Given the description of an element on the screen output the (x, y) to click on. 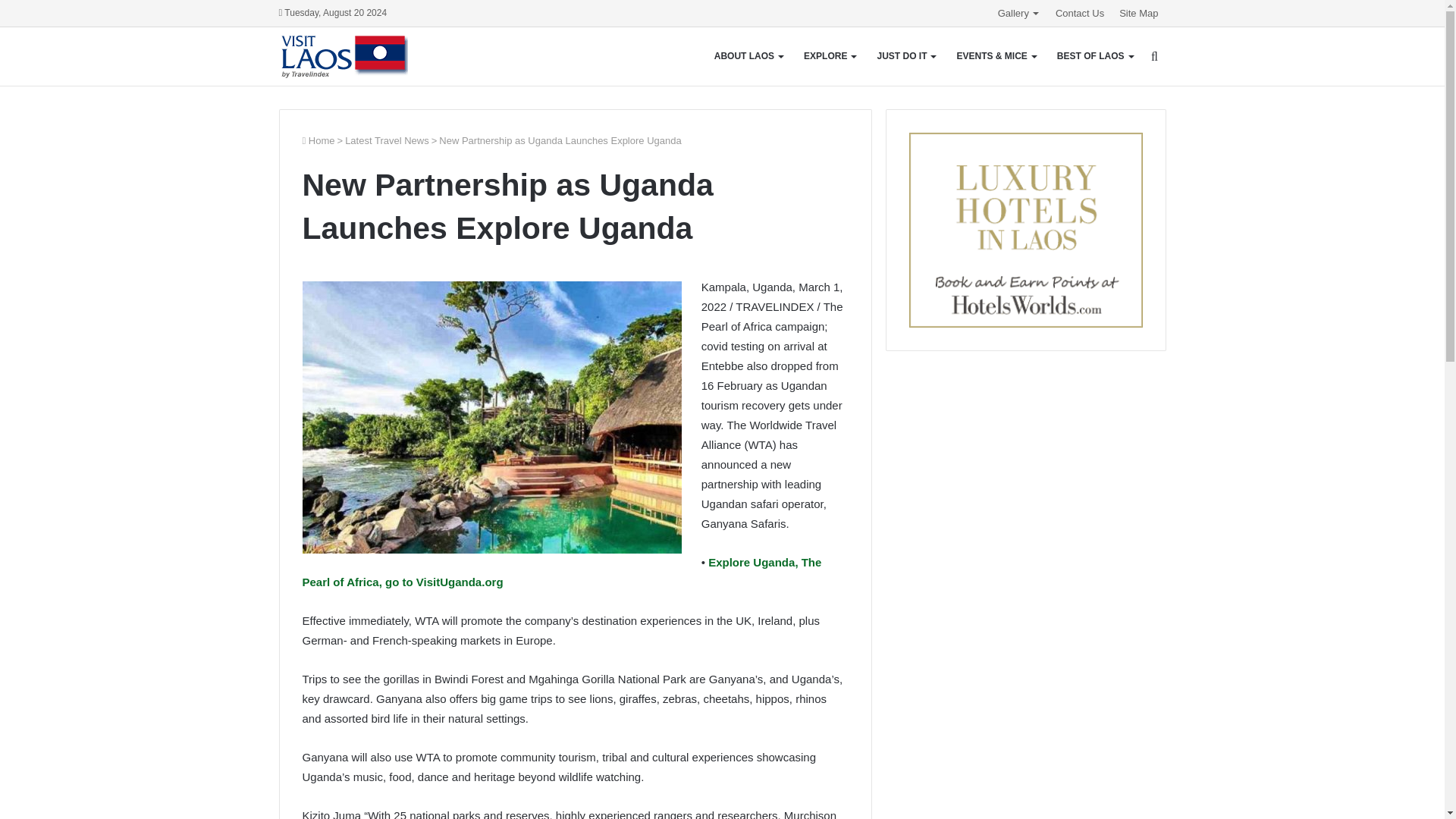
Contact Us (1080, 13)
Visit Laos - Lao PDR (343, 56)
JUST DO IT (905, 56)
Site Map (1139, 13)
ABOUT LAOS (748, 56)
Gallery (1019, 13)
EXPLORE (829, 56)
